Given the description of an element on the screen output the (x, y) to click on. 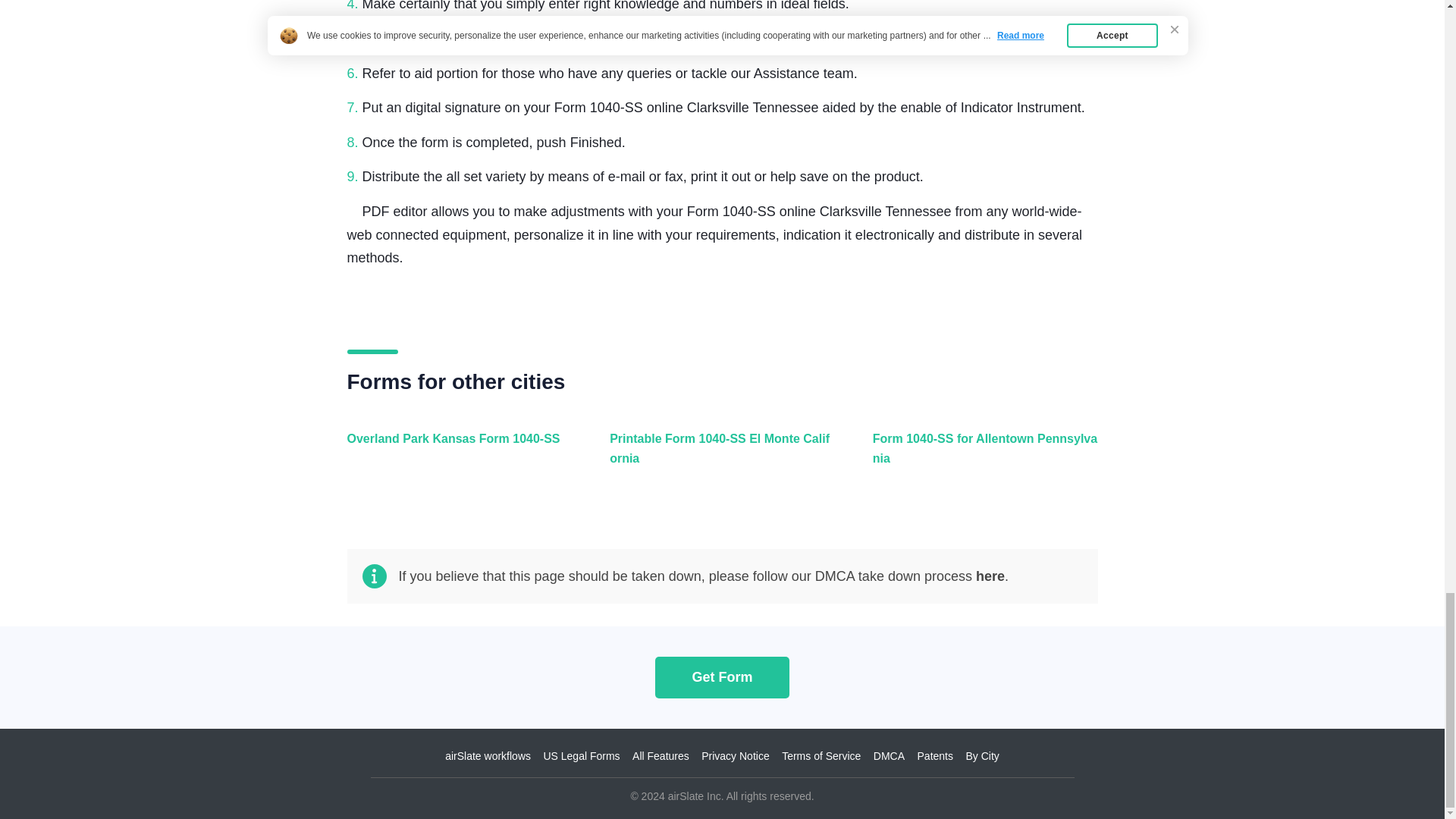
All Features (659, 756)
DMCA (888, 756)
Overland Park Kansas Form 1040-SS (456, 456)
Printable Form 1040-SS El Monte California (718, 456)
By City (981, 756)
airSlate workflows (488, 756)
here (989, 575)
Terms of Service (820, 756)
Get Form (722, 676)
Form 1040-SS for Allentown Pennsylvania (981, 456)
US Legal Forms (581, 756)
Patents (935, 756)
Privacy Notice (734, 756)
